Given the description of an element on the screen output the (x, y) to click on. 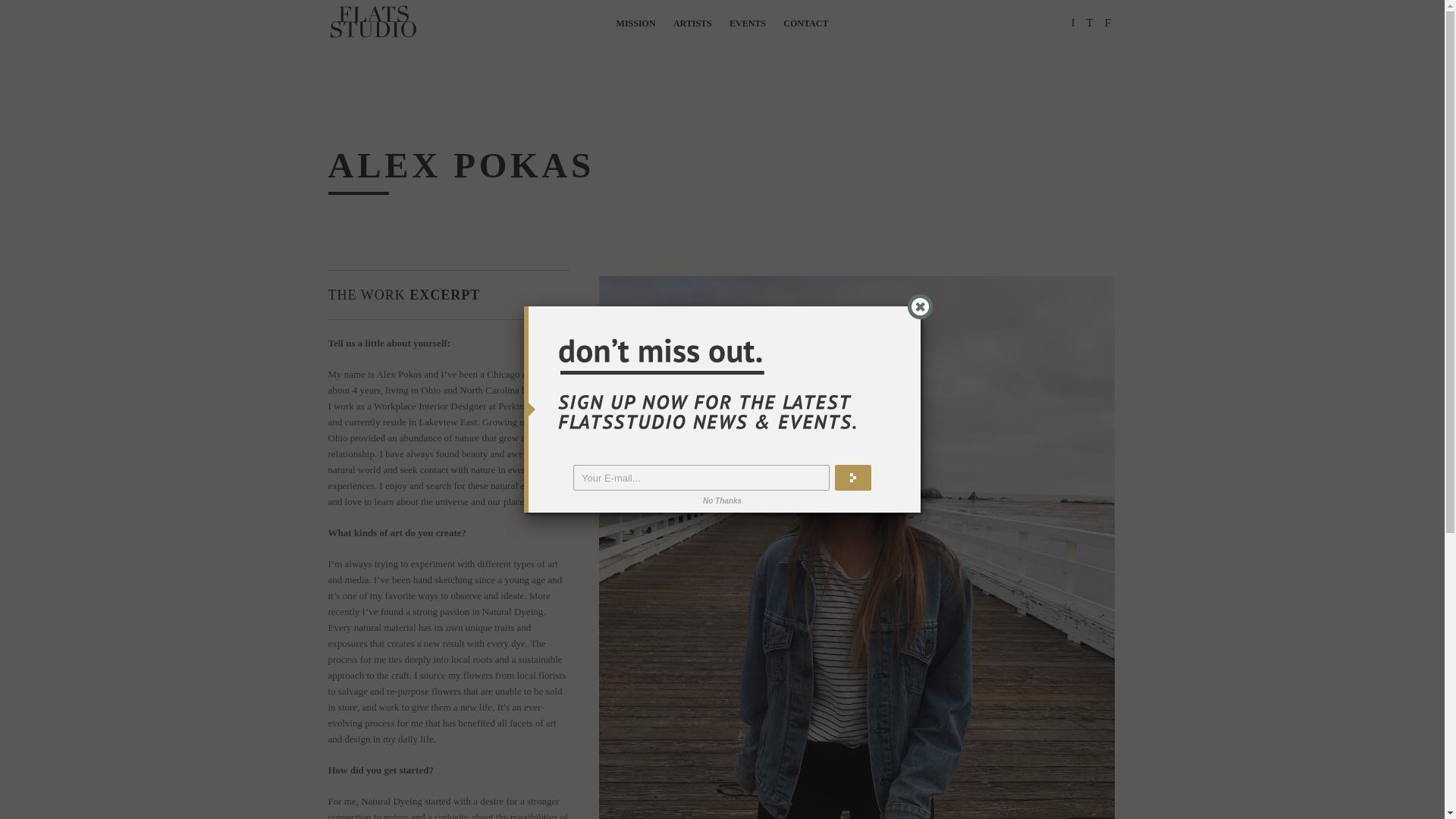
I (1072, 22)
No Thanks (722, 500)
ARTISTS (691, 23)
CONTACT (805, 23)
EVENTS (747, 23)
Close (920, 306)
Submit (852, 477)
FLATSstudio (371, 22)
MISSION (635, 23)
T (1089, 22)
F (1107, 22)
